Given the description of an element on the screen output the (x, y) to click on. 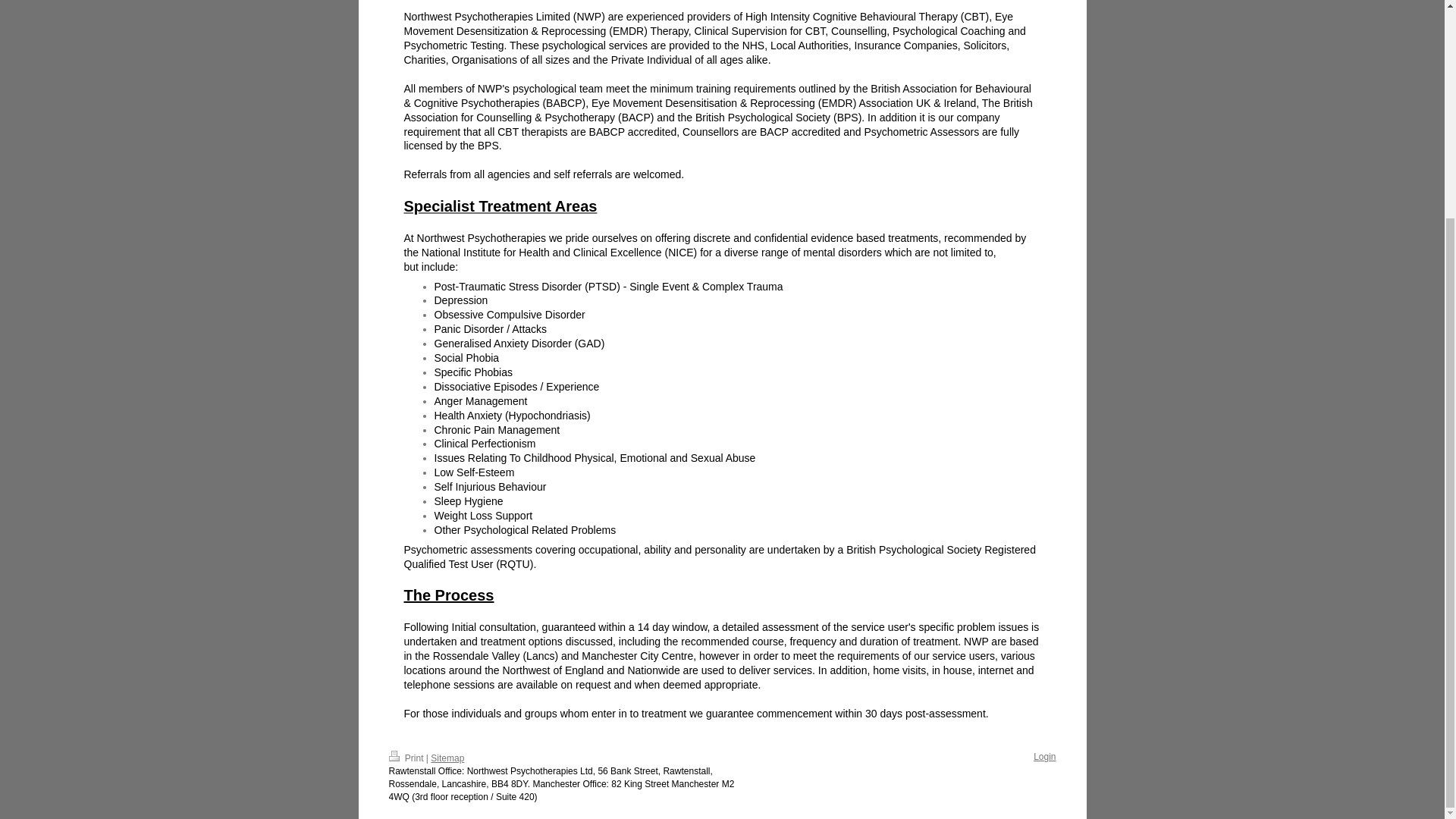
Print (406, 757)
Login (1044, 756)
Sitemap (447, 757)
